Given the description of an element on the screen output the (x, y) to click on. 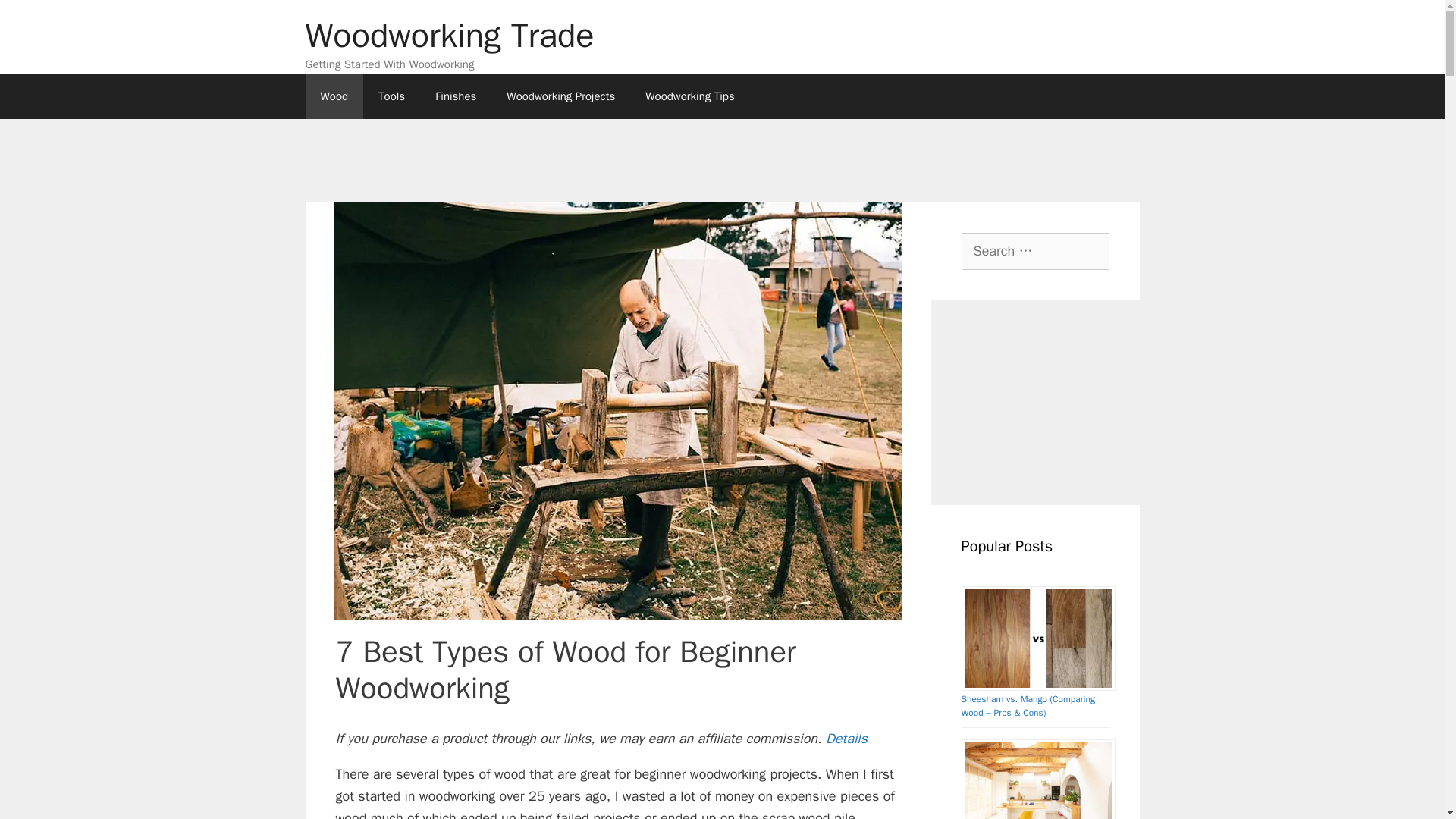
Woodworking Projects (561, 94)
Wood (333, 94)
Search (37, 18)
Woodworking Tips (689, 94)
Woodworking Trade (449, 35)
Tools (391, 94)
Search for: (1034, 250)
Details (846, 738)
Finishes (456, 94)
